Given the description of an element on the screen output the (x, y) to click on. 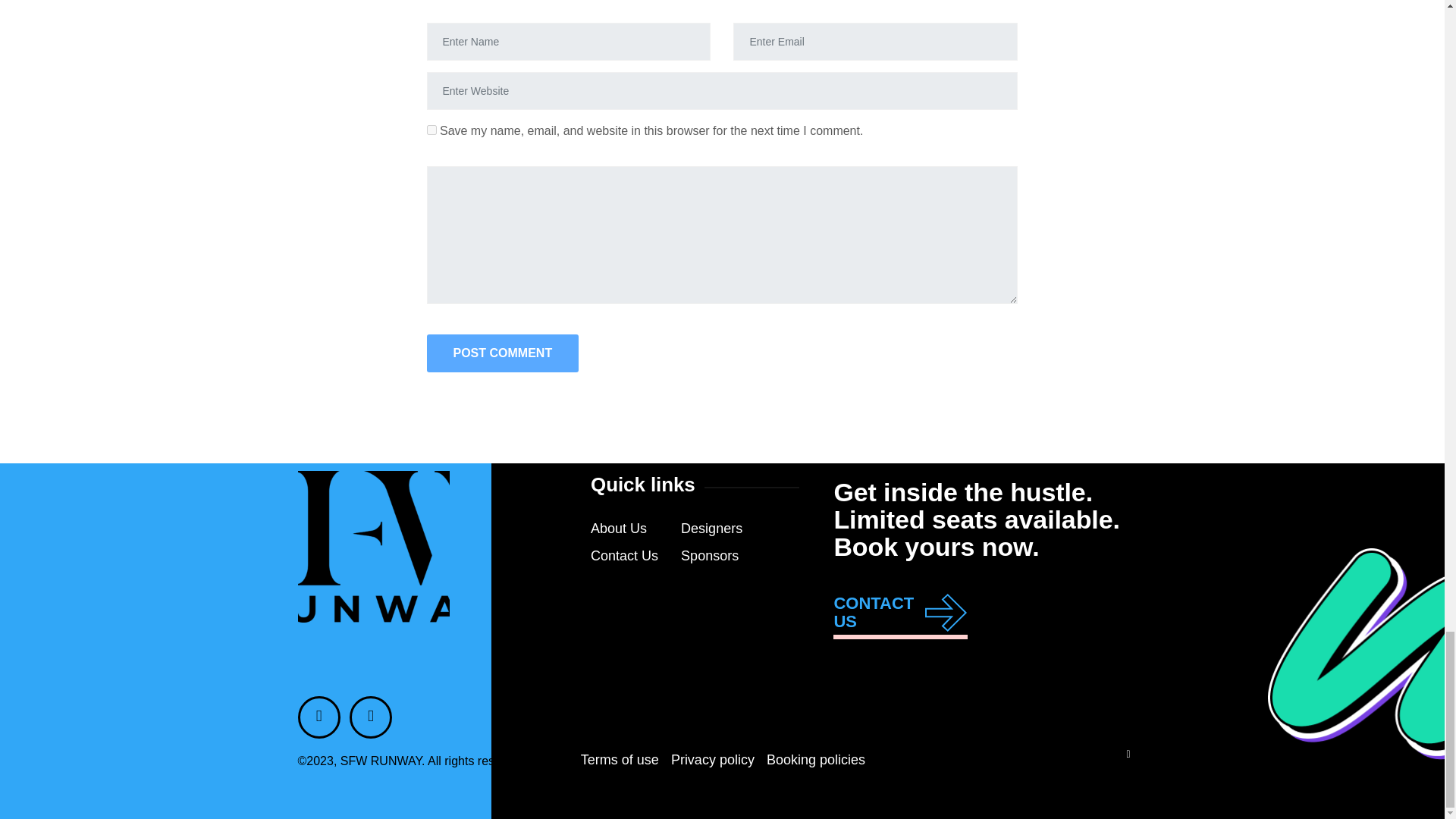
SFW RUNWAY logo (372, 546)
yes (430, 130)
Post Comment (502, 353)
